Given the description of an element on the screen output the (x, y) to click on. 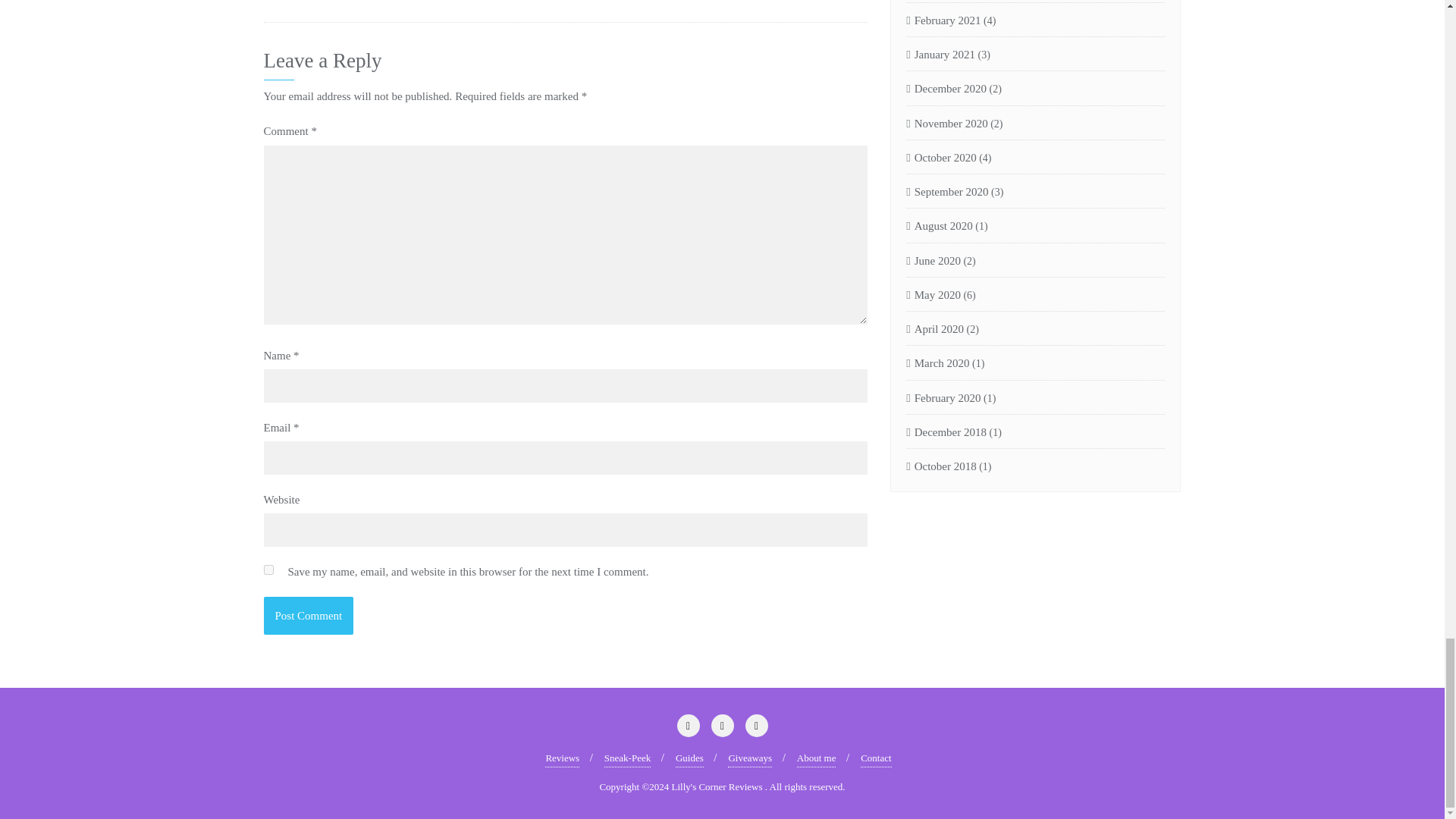
yes (268, 569)
Post Comment (308, 615)
Post Comment (308, 615)
